Given the description of an element on the screen output the (x, y) to click on. 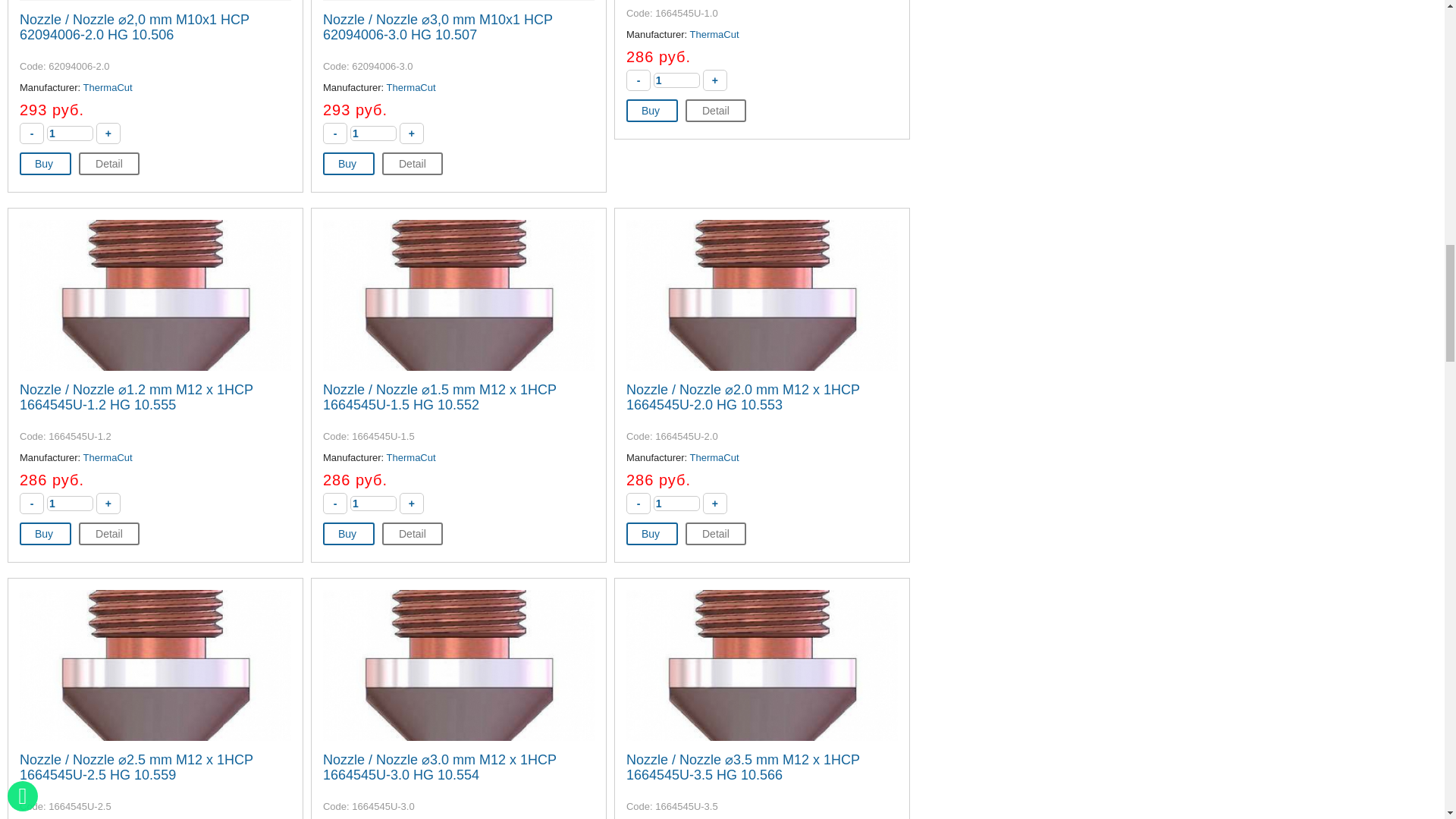
1 (373, 133)
1 (69, 503)
1 (676, 79)
1 (69, 133)
